Given the description of an element on the screen output the (x, y) to click on. 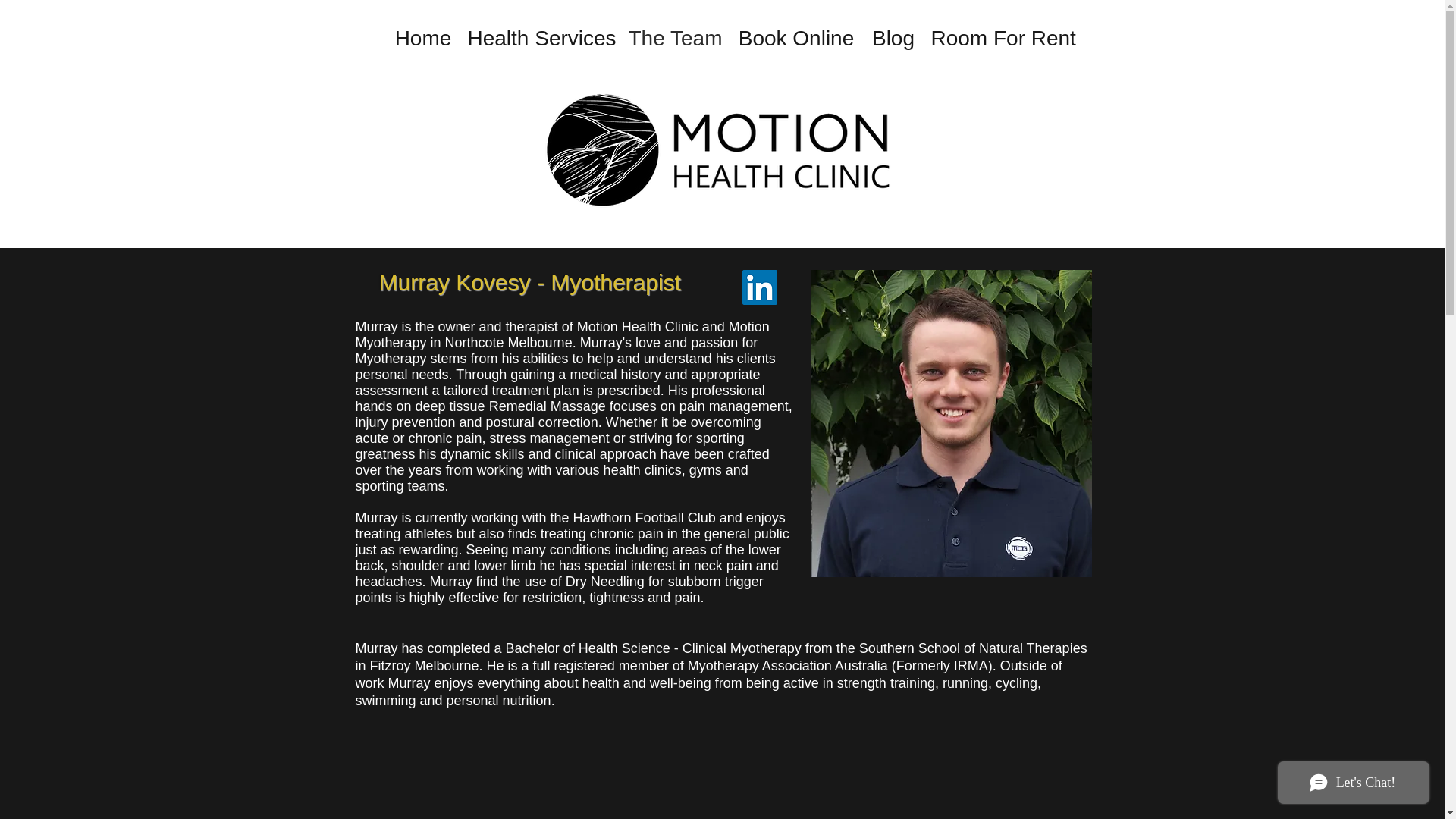
Embedded Content (715, 769)
The Team (674, 37)
Home (423, 37)
Health Services (540, 37)
Book Online (796, 37)
Blog (893, 37)
Room For Rent (1002, 37)
